Given the description of an element on the screen output the (x, y) to click on. 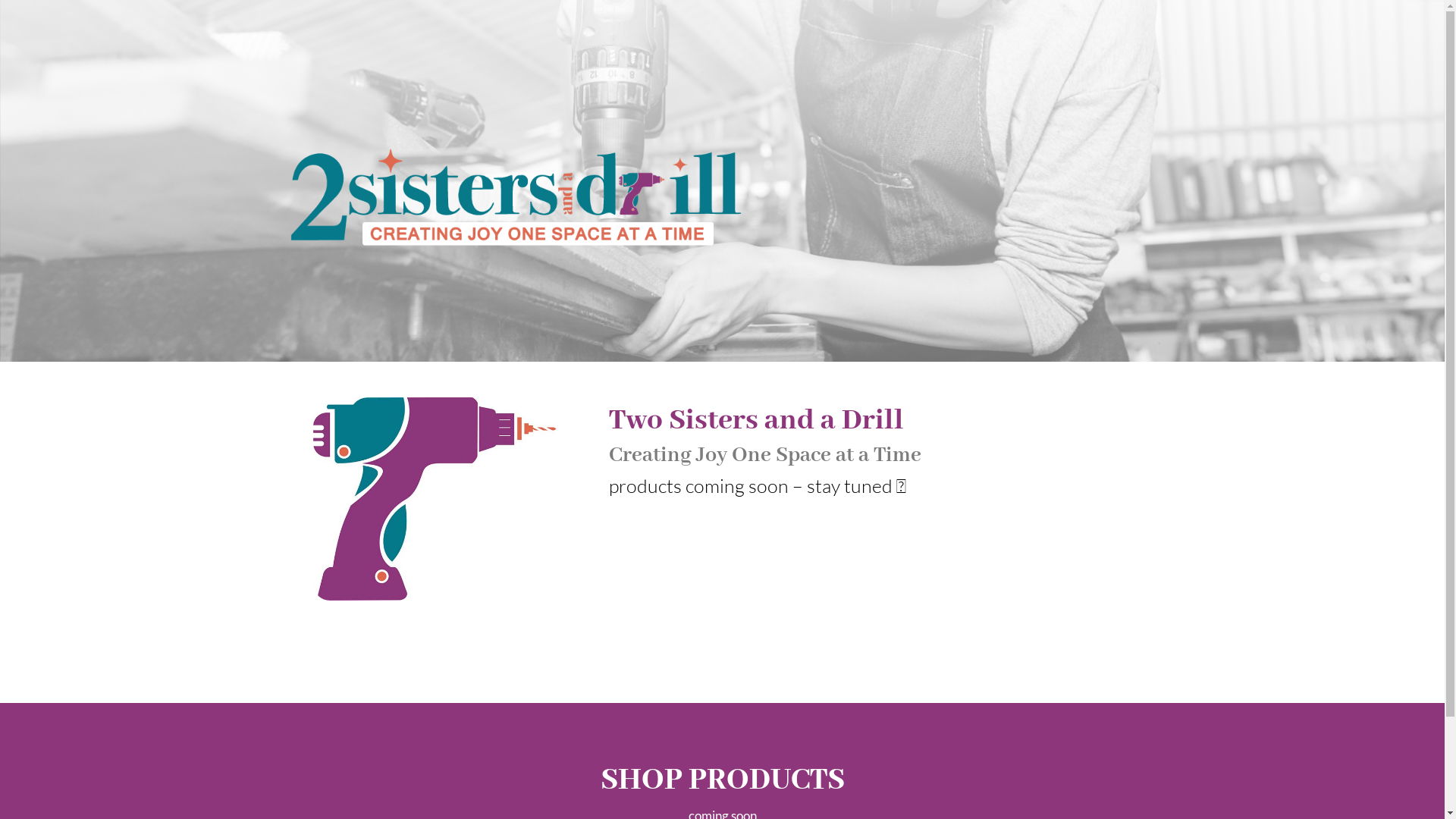
drill1 Element type: hover (433, 498)
2-Sisters-and-a-Drill-2 Element type: hover (515, 196)
